Given the description of an element on the screen output the (x, y) to click on. 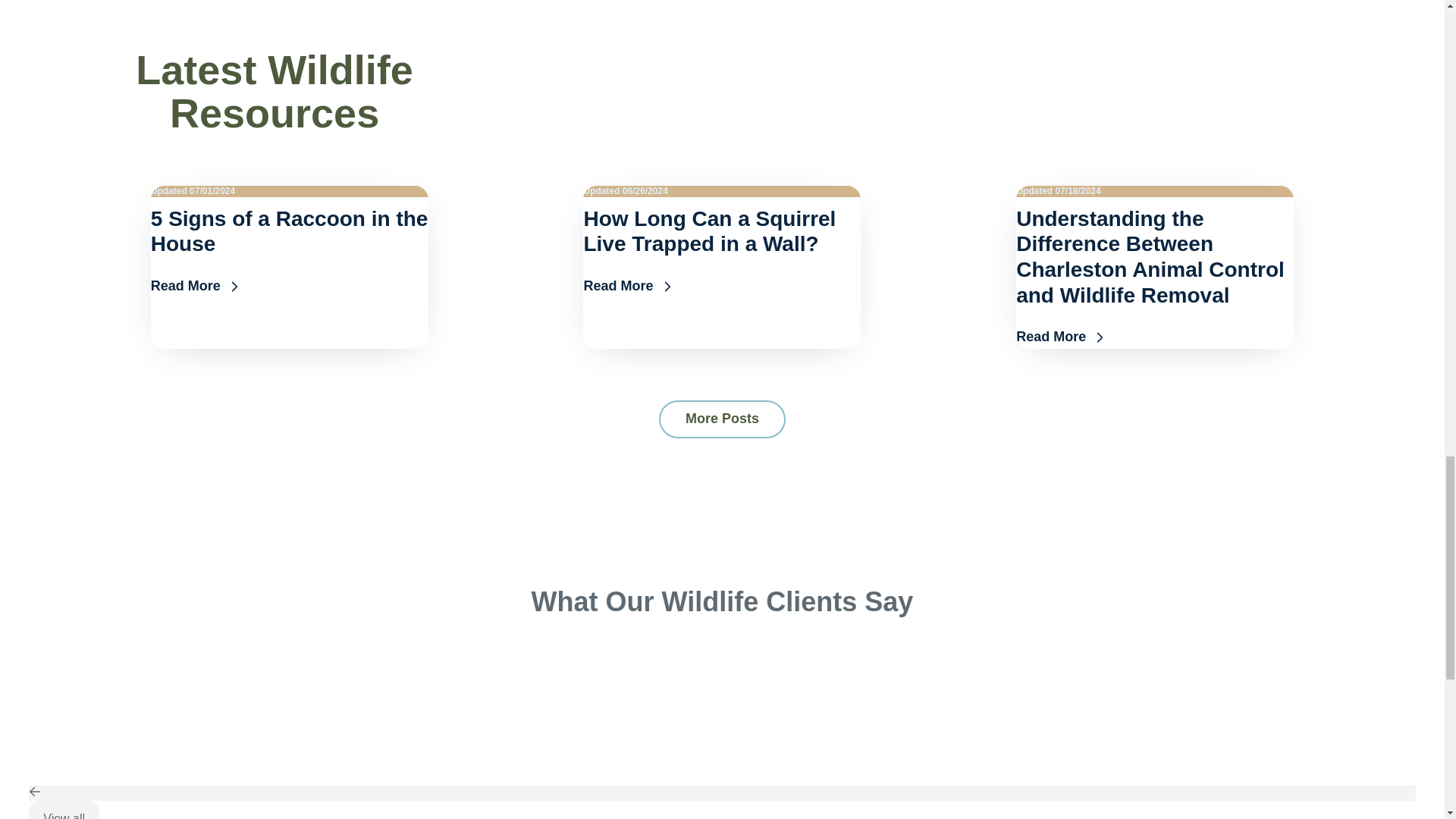
More Posts (722, 419)
View all (64, 809)
